Given the description of an element on the screen output the (x, y) to click on. 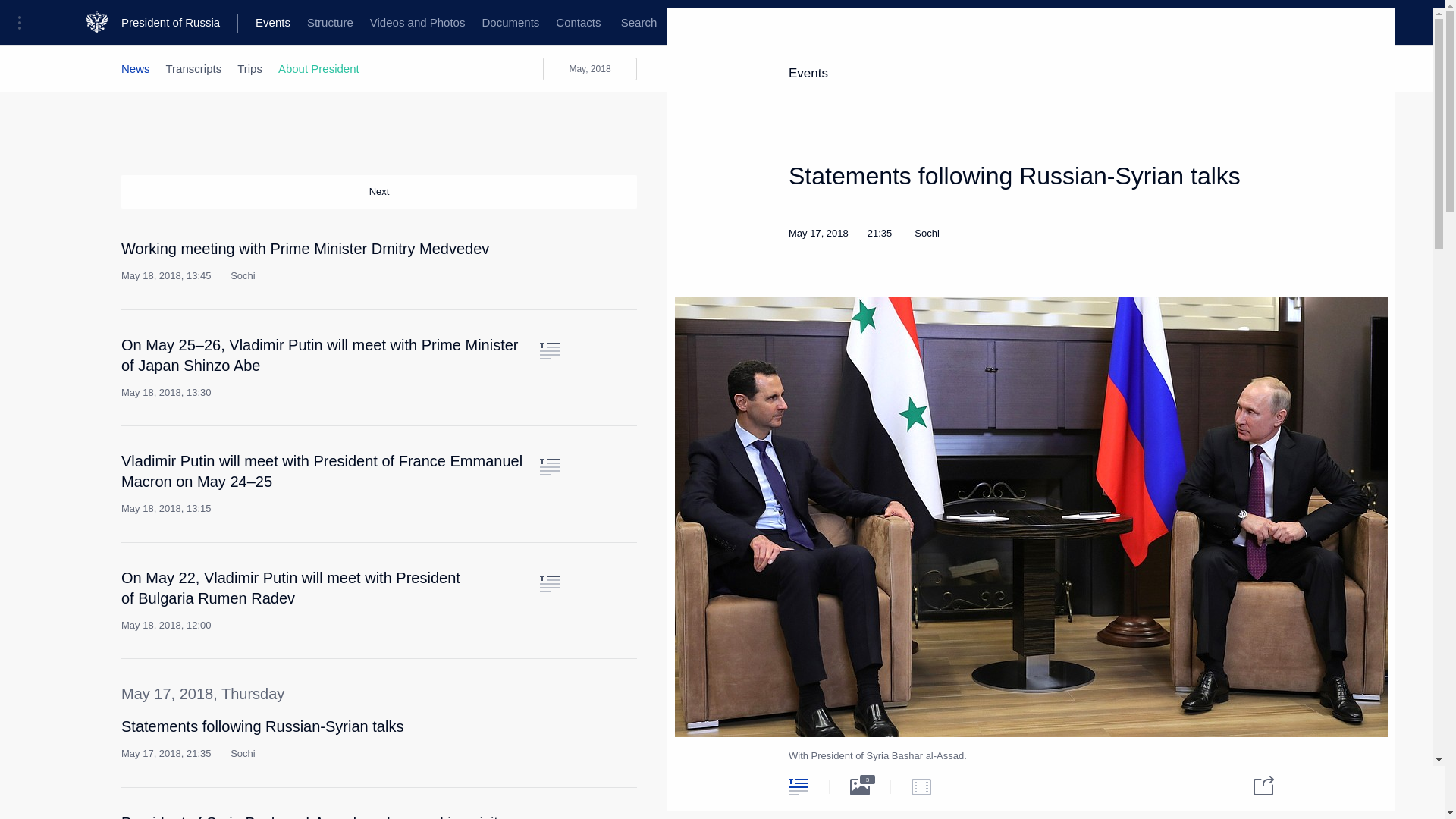
Global website search (638, 22)
Security Council (470, 22)
Documents (510, 22)
Text of the article (549, 583)
President (144, 22)
Portal Menu (24, 22)
State Council (378, 22)
Transcripts (194, 68)
Next (378, 191)
